Given the description of an element on the screen output the (x, y) to click on. 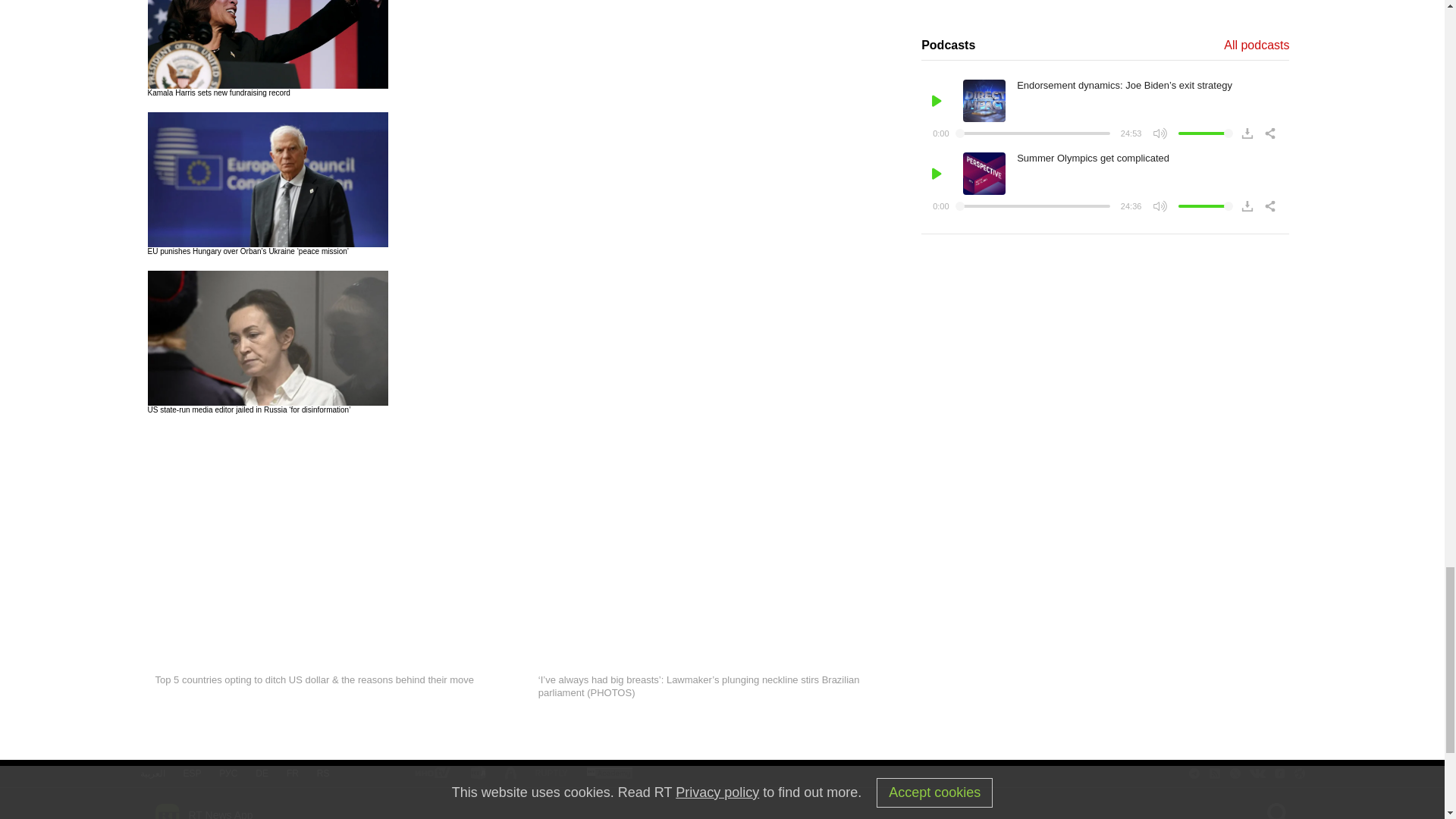
RT  (608, 773)
RT  (478, 773)
RT  (551, 773)
RT  (431, 773)
